Given the description of an element on the screen output the (x, y) to click on. 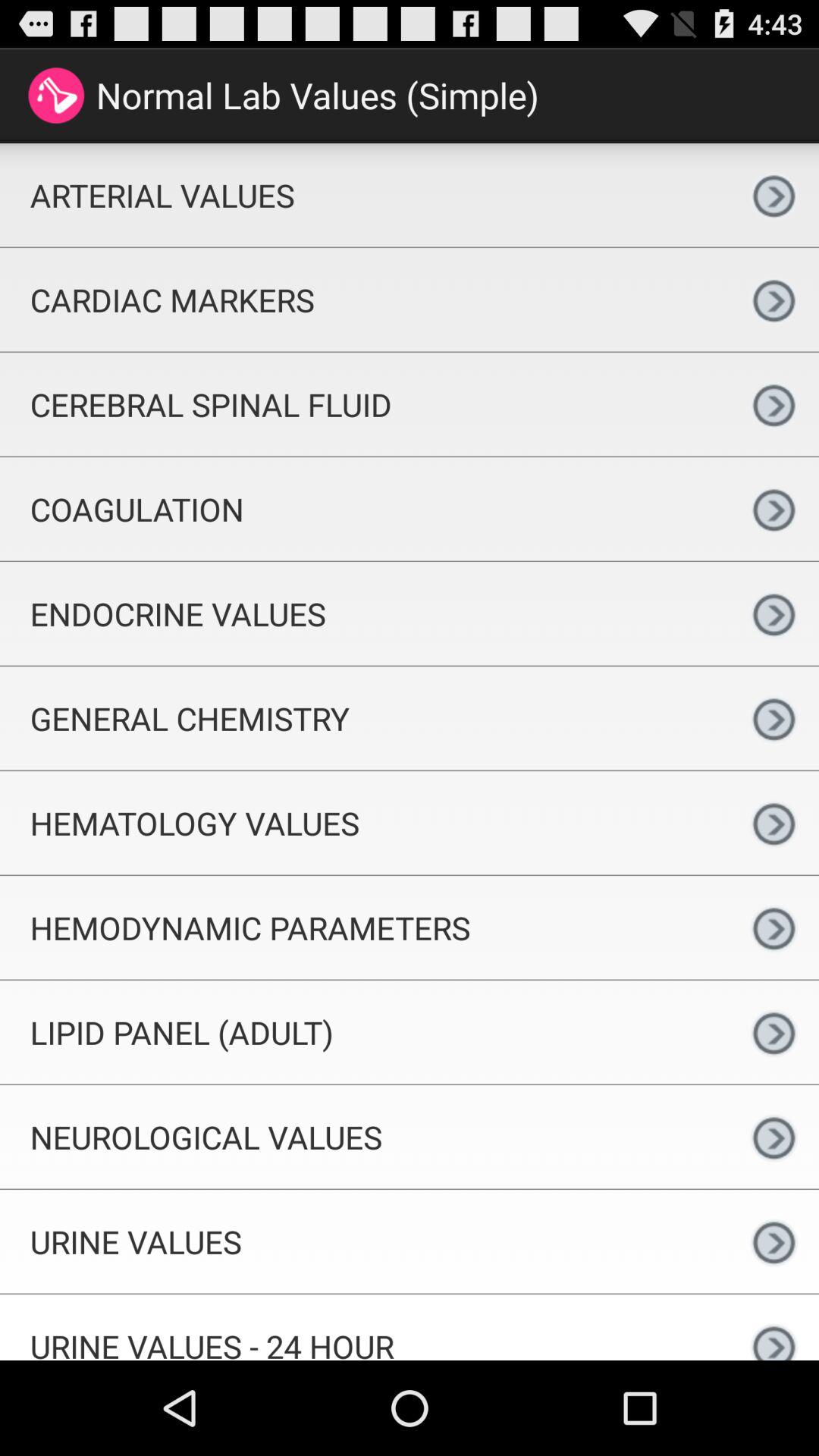
jump to arterial values icon (364, 194)
